Given the description of an element on the screen output the (x, y) to click on. 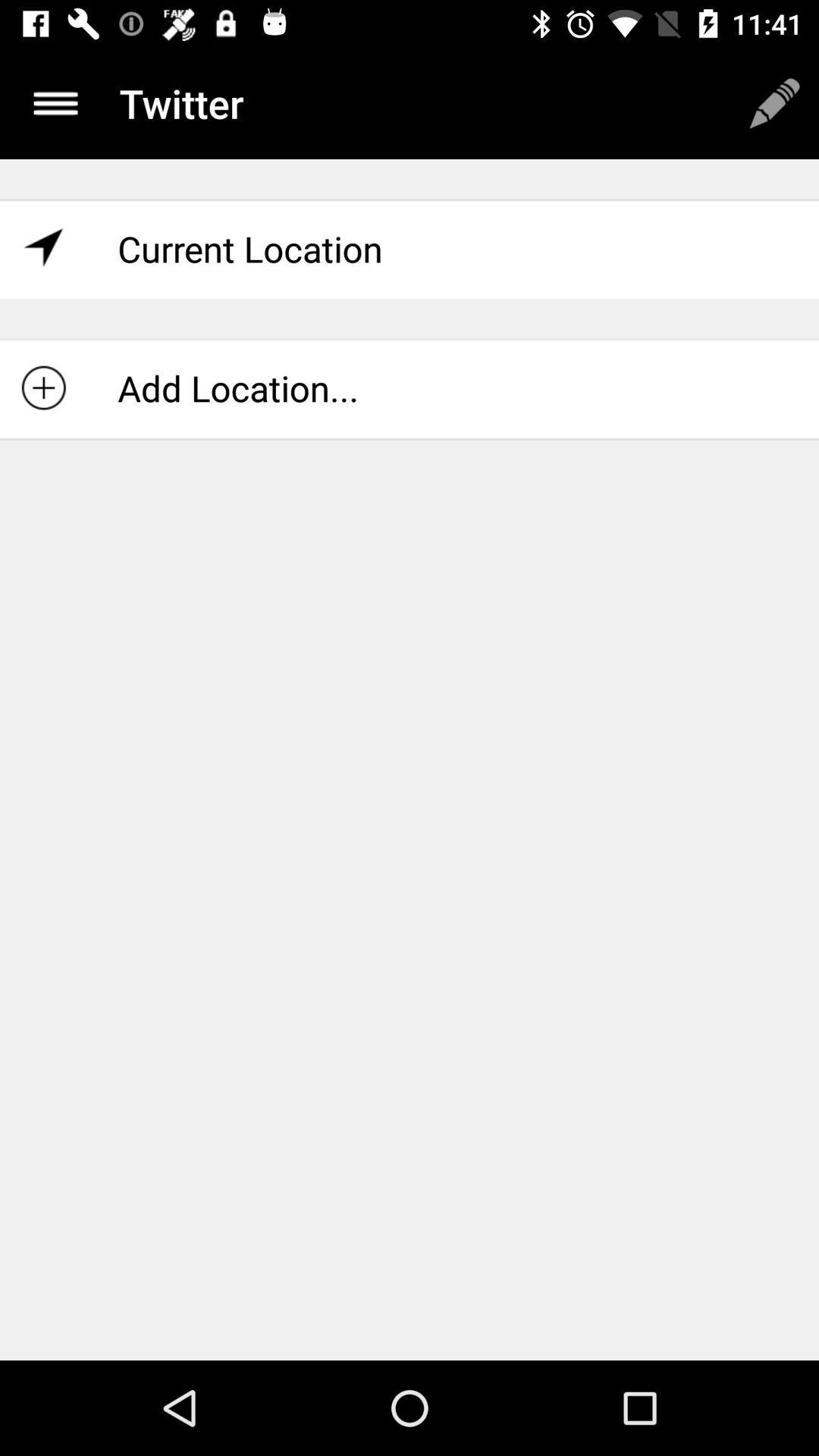
choose item next to the twitter (55, 103)
